Given the description of an element on the screen output the (x, y) to click on. 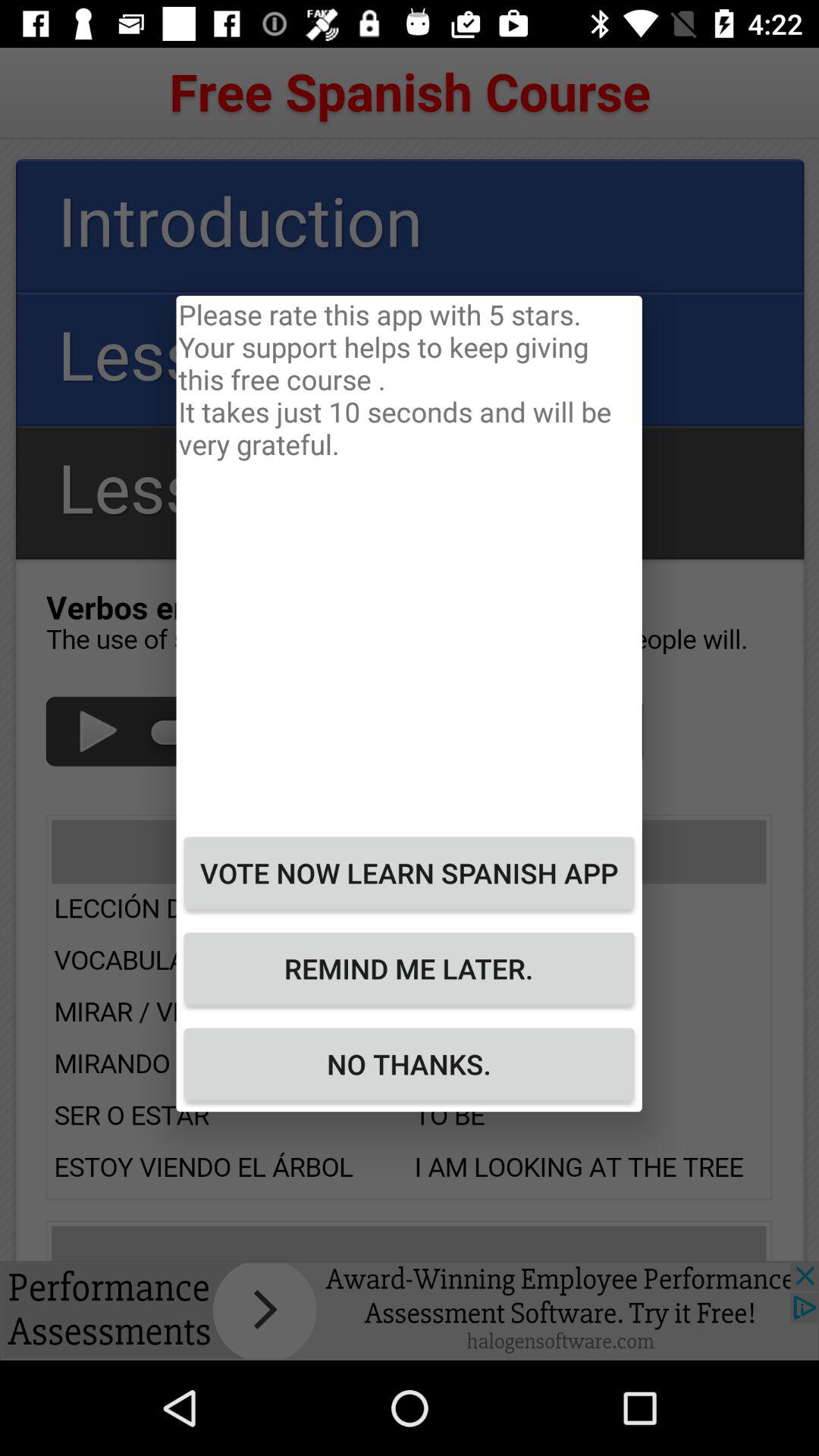
launch item above the no thanks. (409, 968)
